Given the description of an element on the screen output the (x, y) to click on. 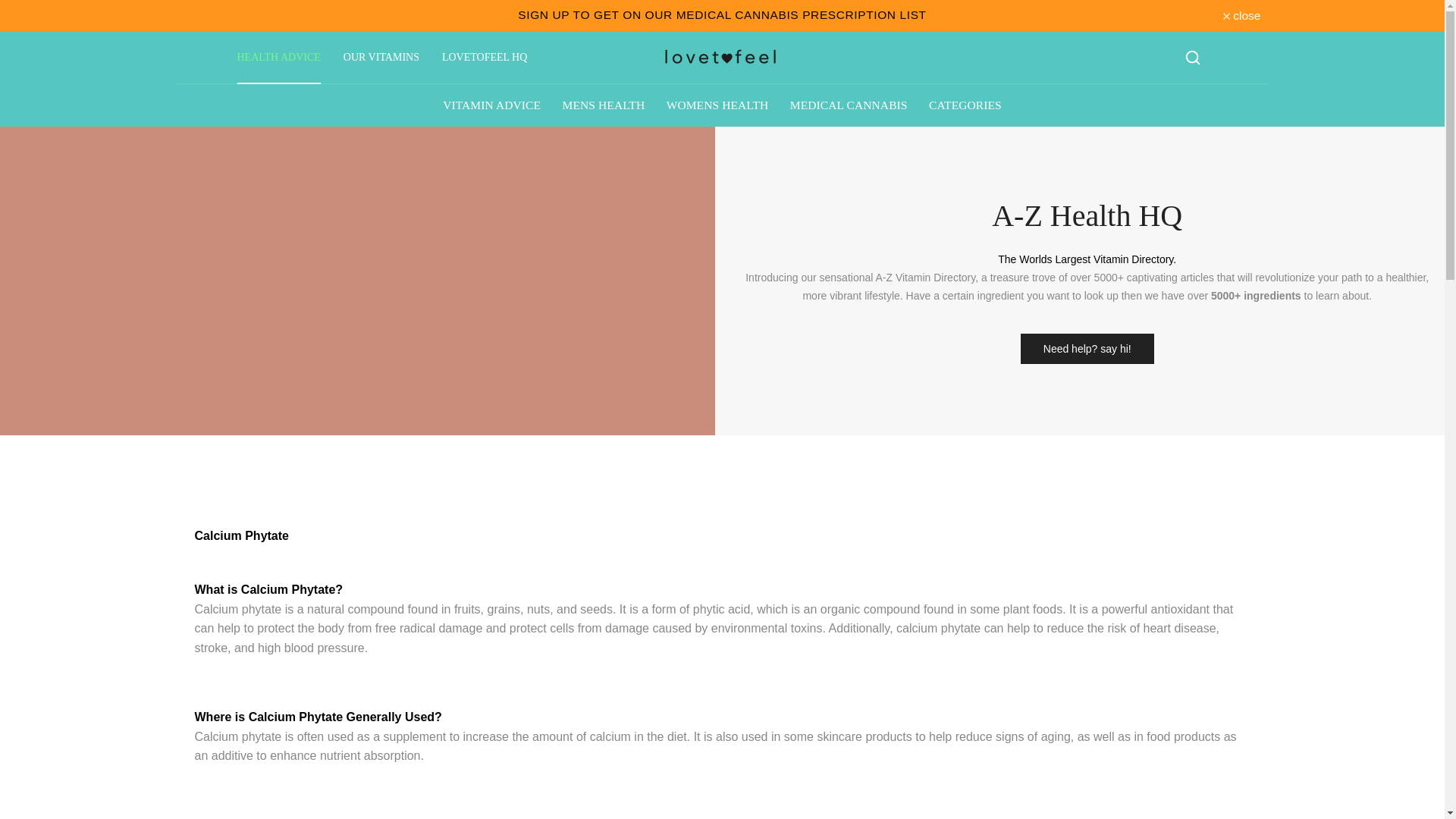
close (1241, 15)
VITAMIN ADVICE (491, 105)
CATEGORIES (964, 105)
OUR VITAMINS (380, 57)
SUBSCRIBE (722, 14)
MEDICAL CANNABIS (848, 105)
MENS HEALTH (603, 105)
SIGN UP TO GET ON OUR MEDICAL CANNABIS PRESCRIPTION LIST (722, 14)
Skip to content (10, 7)
WOMENS HEALTH (716, 105)
HEALTH ADVICE (278, 57)
Need help? say hi! (1087, 348)
LOVETOFEEL HQ (484, 57)
